Given the description of an element on the screen output the (x, y) to click on. 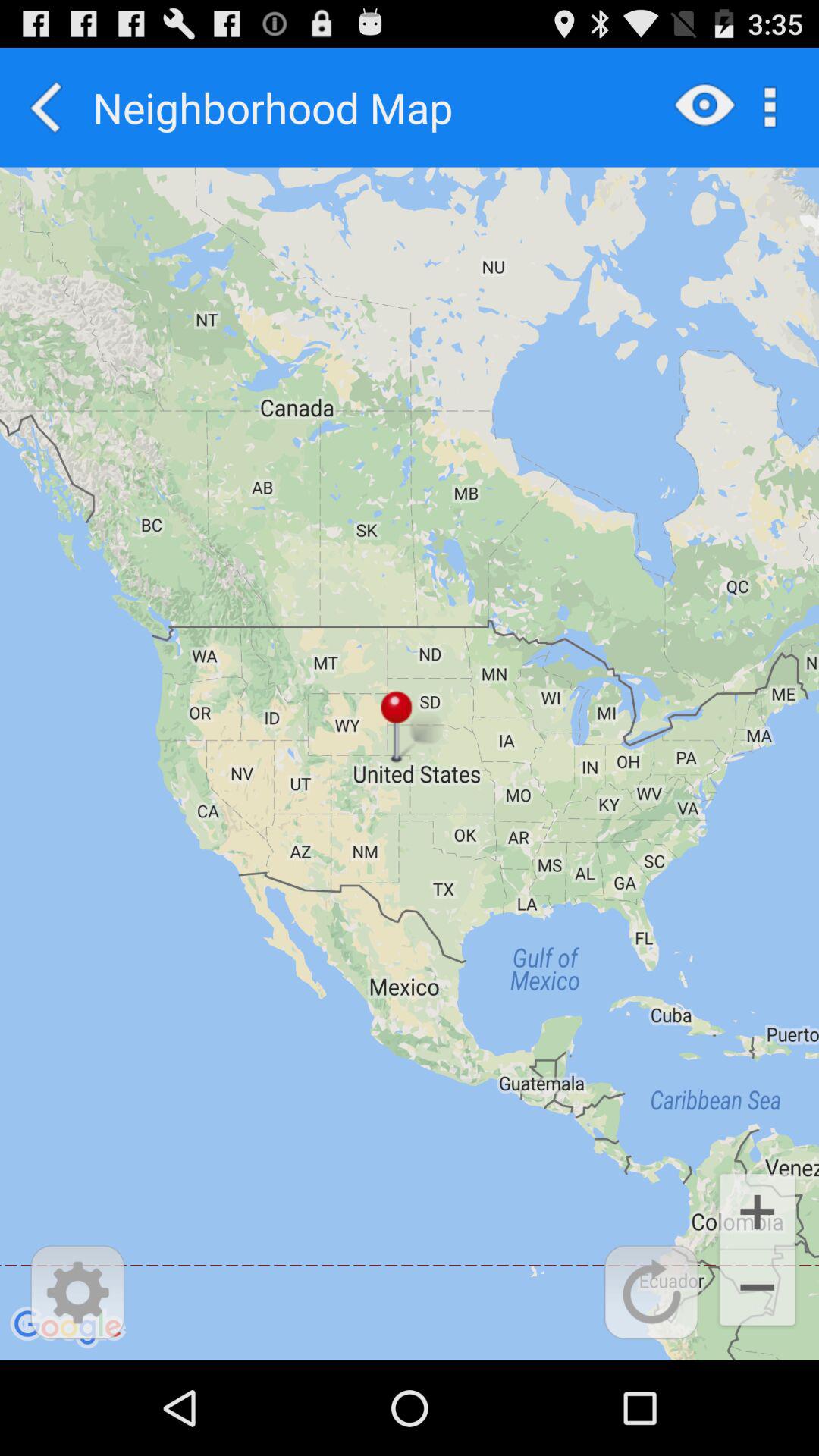
setting (77, 1292)
